Given the description of an element on the screen output the (x, y) to click on. 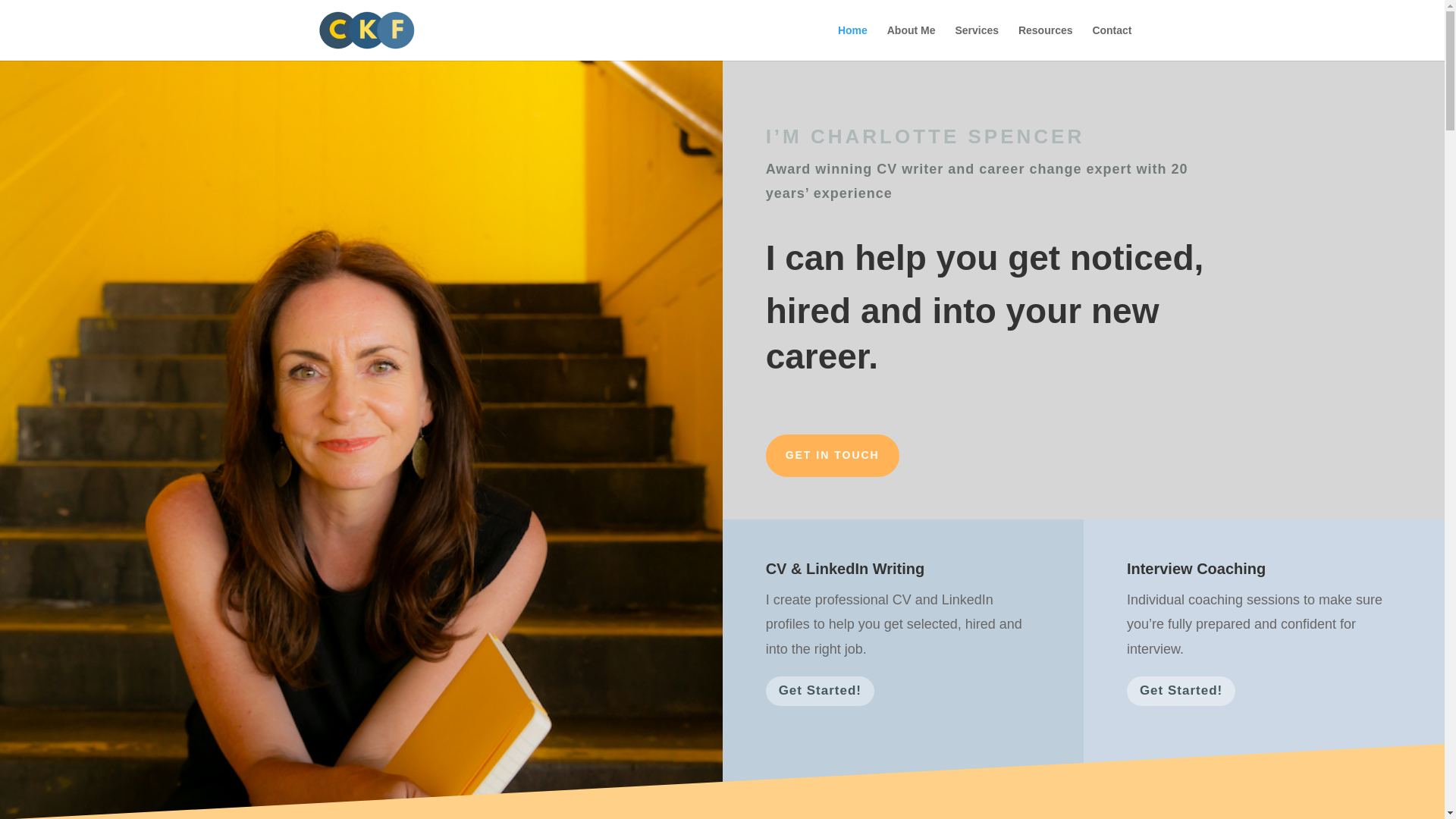
Get Started! (820, 690)
Get Started! (1180, 690)
Services (976, 42)
About Me (911, 42)
Contact (1111, 42)
GET IN TOUCH (832, 455)
Resources (1045, 42)
